Given the description of an element on the screen output the (x, y) to click on. 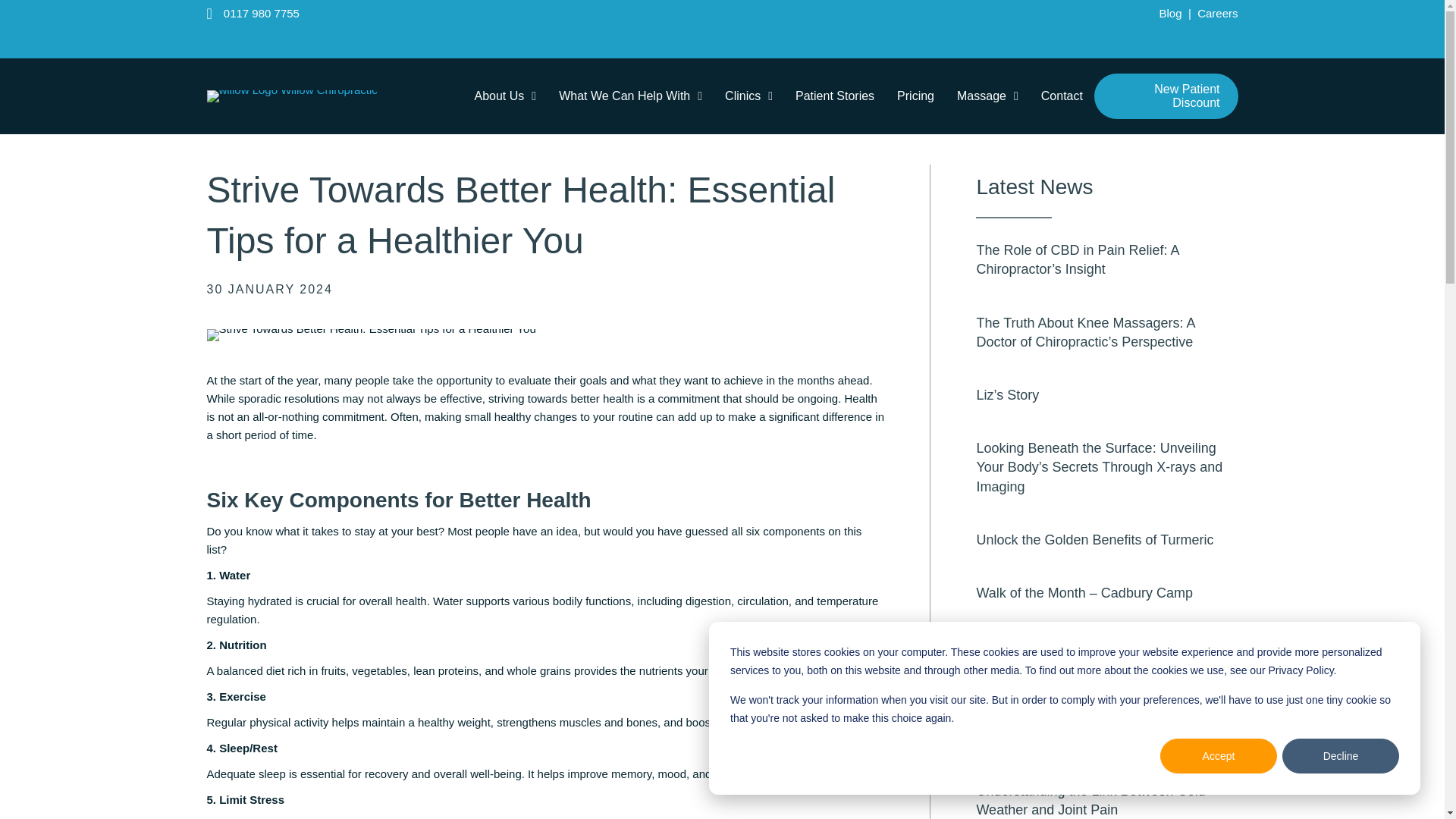
Contact (1061, 95)
Pricing (915, 95)
0117 980 7755 (261, 11)
What We Can Help With (630, 95)
Blog (1170, 11)
View Box Content (1106, 469)
willow-logo (291, 96)
View Box Content (1106, 334)
Careers (1216, 11)
